Given the description of an element on the screen output the (x, y) to click on. 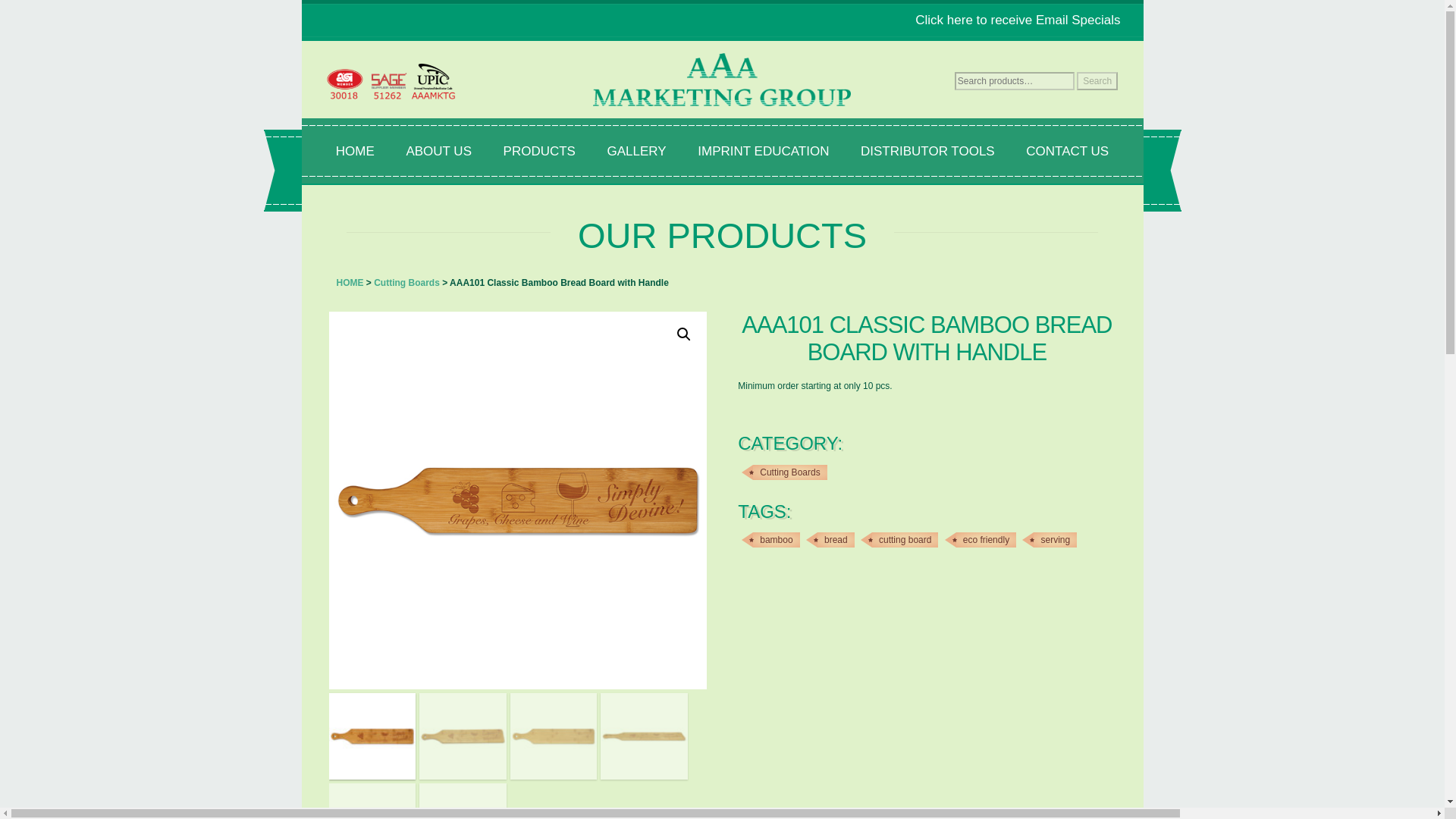
ABOUT US (438, 151)
Click here to receive Email Specials (1017, 20)
cutting board (904, 539)
Go to the Cutting Boards Product Category archives. (406, 282)
bread (835, 539)
Cutting Boards (406, 282)
DISTRIBUTOR TOOLS (927, 151)
GALLERY (636, 151)
IMPRINT EDUCATION (762, 151)
eco friendly (986, 539)
bamboo (775, 539)
Cutting Boards (789, 472)
CONTACT US (1067, 151)
Search (1097, 81)
